Given the description of an element on the screen output the (x, y) to click on. 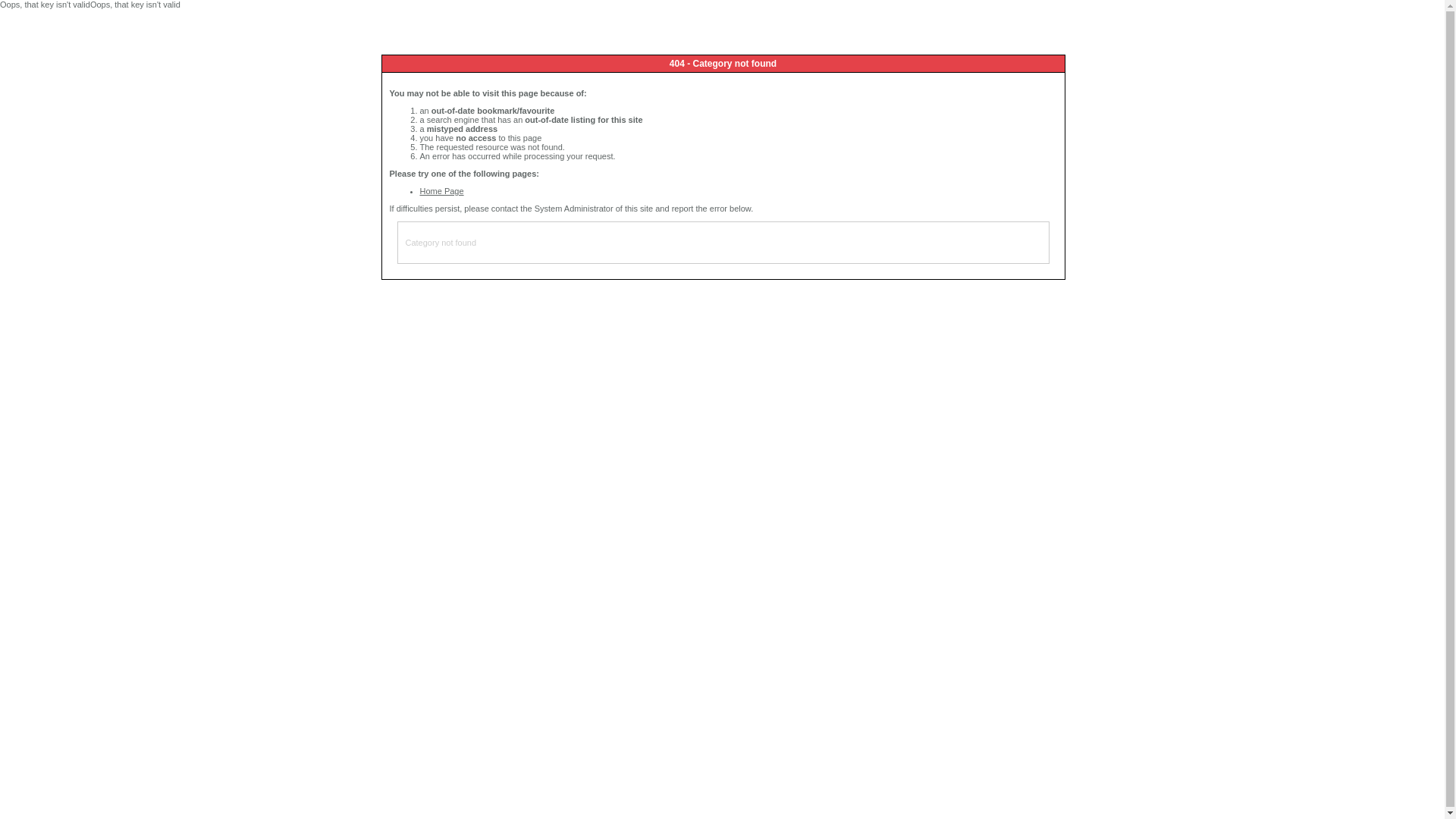
Home Page Element type: text (442, 190)
